Given the description of an element on the screen output the (x, y) to click on. 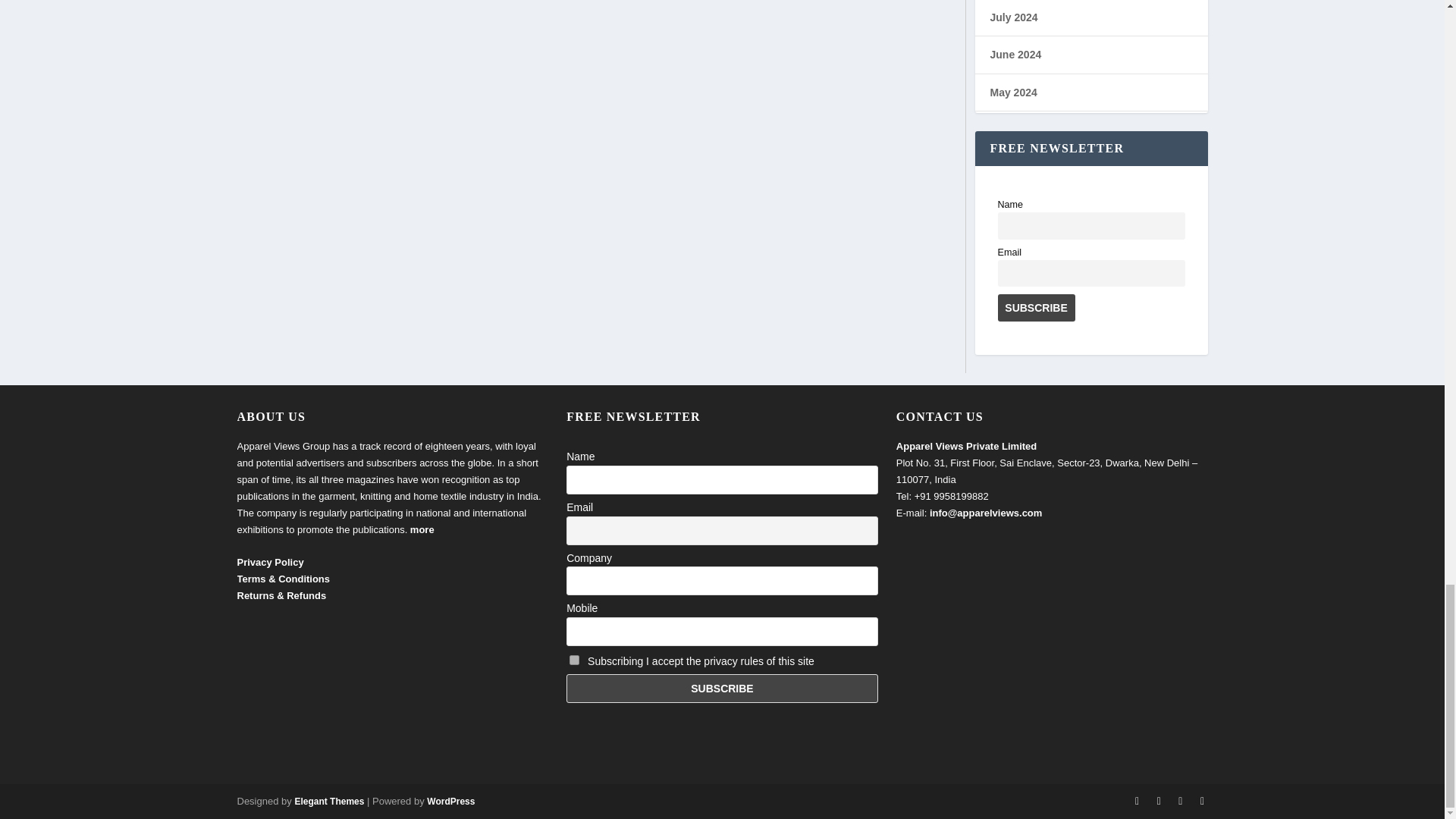
on (574, 660)
Subscribe (721, 688)
Subscribe (1036, 307)
